Given the description of an element on the screen output the (x, y) to click on. 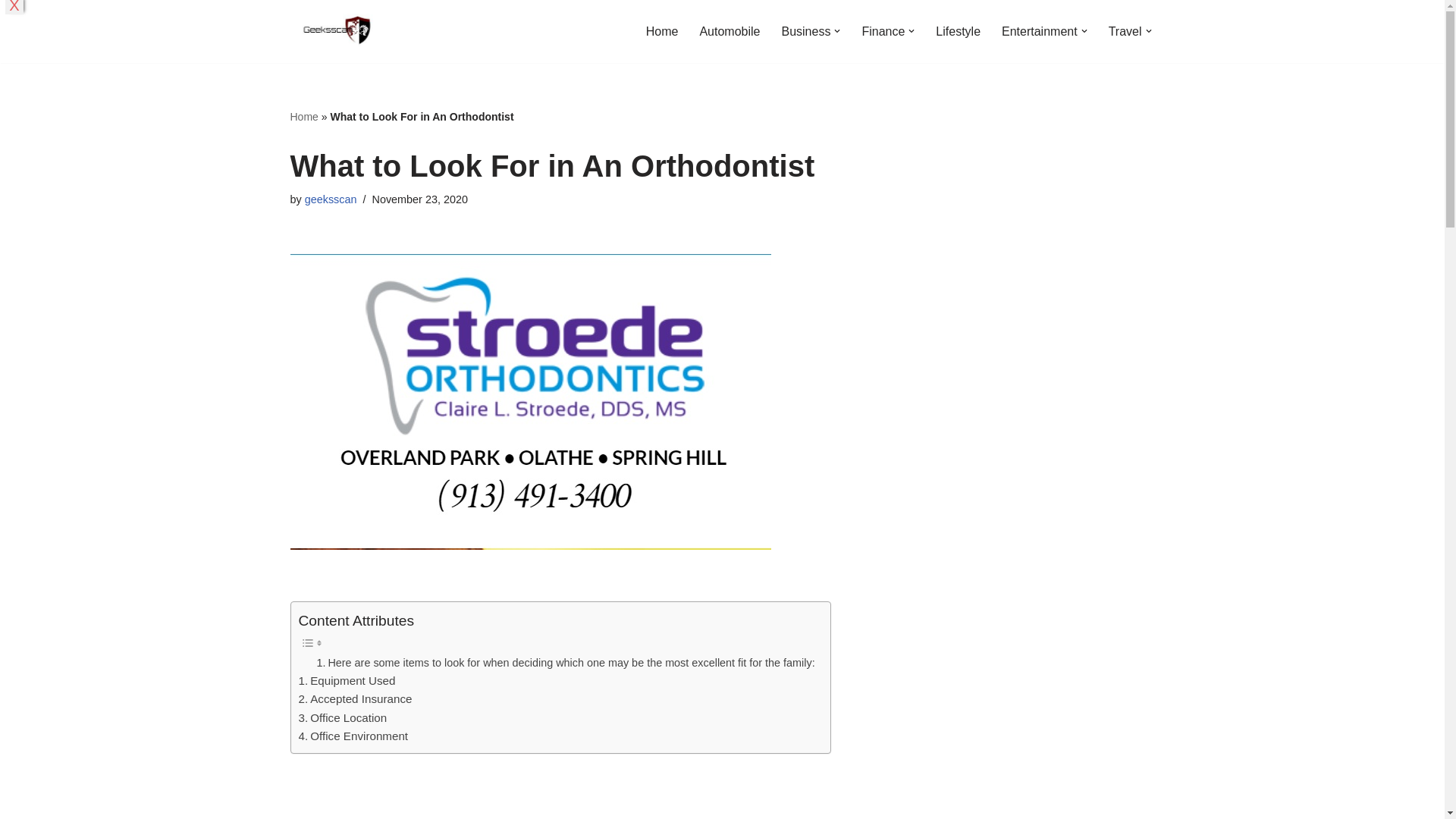
Finance (882, 31)
Entertainment (1039, 31)
Advertisement (588, 792)
Automobile (729, 31)
Business (804, 31)
Skip to content (11, 31)
Office Location (342, 718)
Advertisement (1044, 723)
Posts by geeksscan (330, 199)
